Given the description of an element on the screen output the (x, y) to click on. 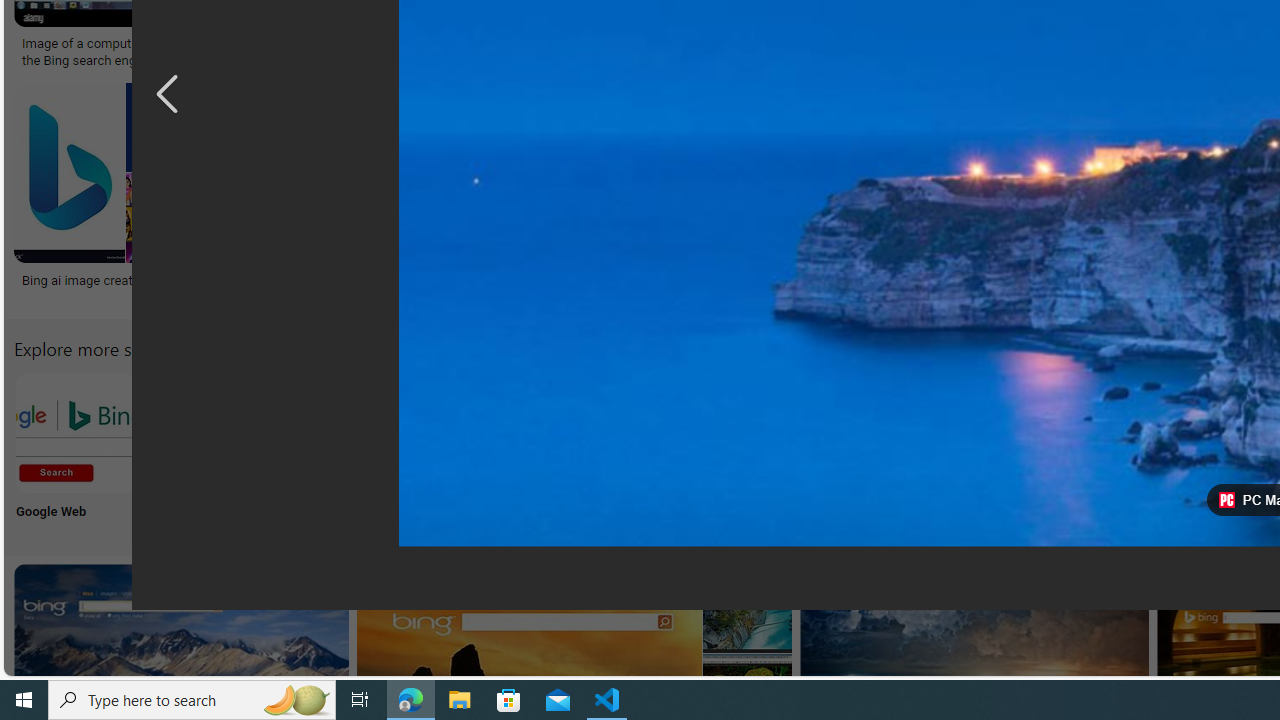
FIX: Downloading proxy script message on Google Chrome (927, 287)
FIX: Downloading proxy script message on Google ChromeSave (930, 196)
People (999, 450)
Bing People Search People (999, 450)
Internet Explorer Bing Search (339, 432)
Bing Search App Logo App Logo (207, 450)
Bing Search App Icon App Icon (735, 450)
Bing Photo Search Microsoft Edge Microsoft Edge (472, 450)
Bing ai image creator (114, 279)
Bing ai image creatorSave (118, 196)
Bing Clip ART SEARCH Clip Art (867, 450)
